Given the description of an element on the screen output the (x, y) to click on. 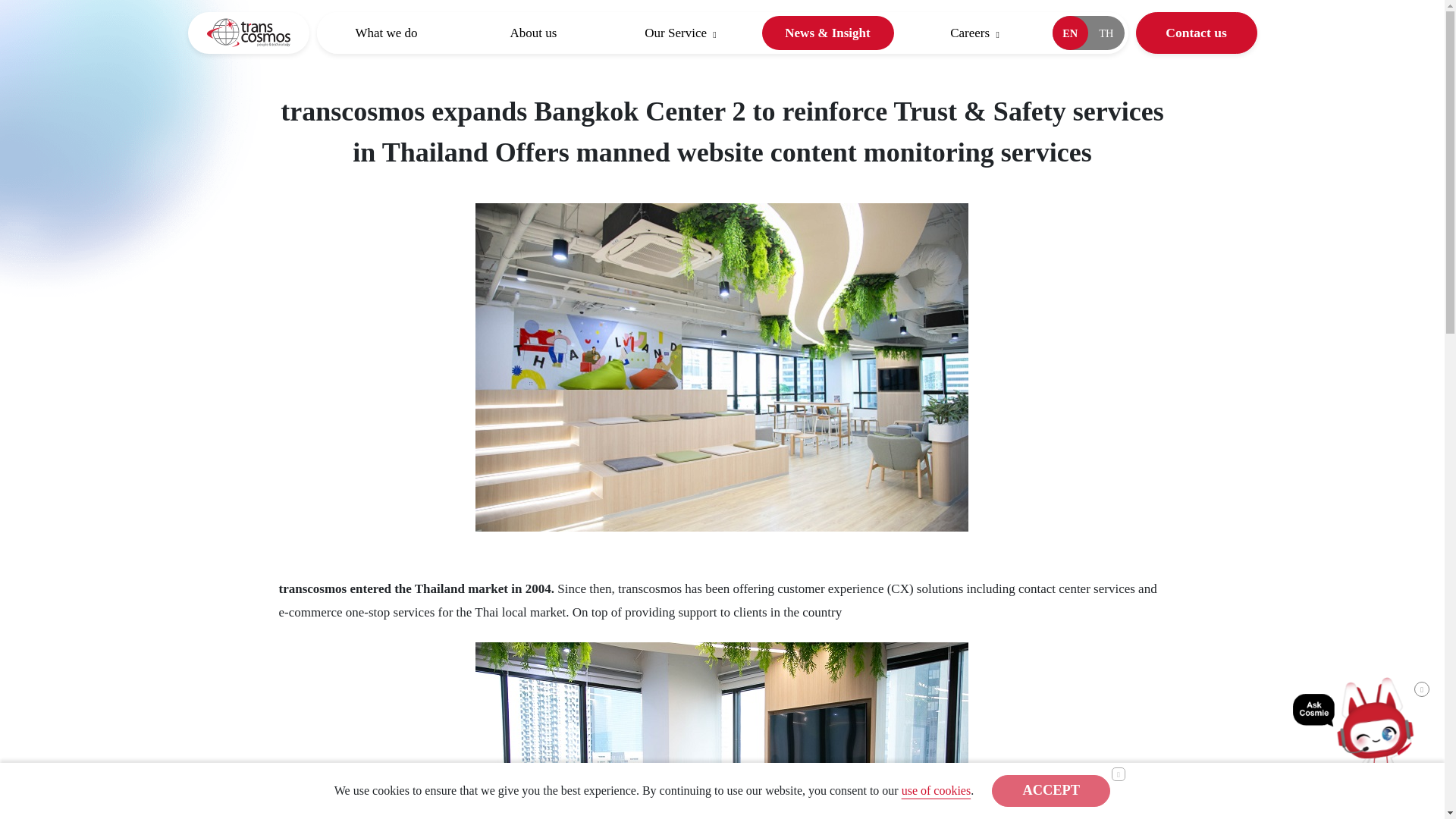
Careers (974, 32)
TH (1105, 32)
About us (532, 32)
Contact us (1196, 33)
Our Service (679, 32)
What we do (385, 32)
EN (1070, 32)
